Given the description of an element on the screen output the (x, y) to click on. 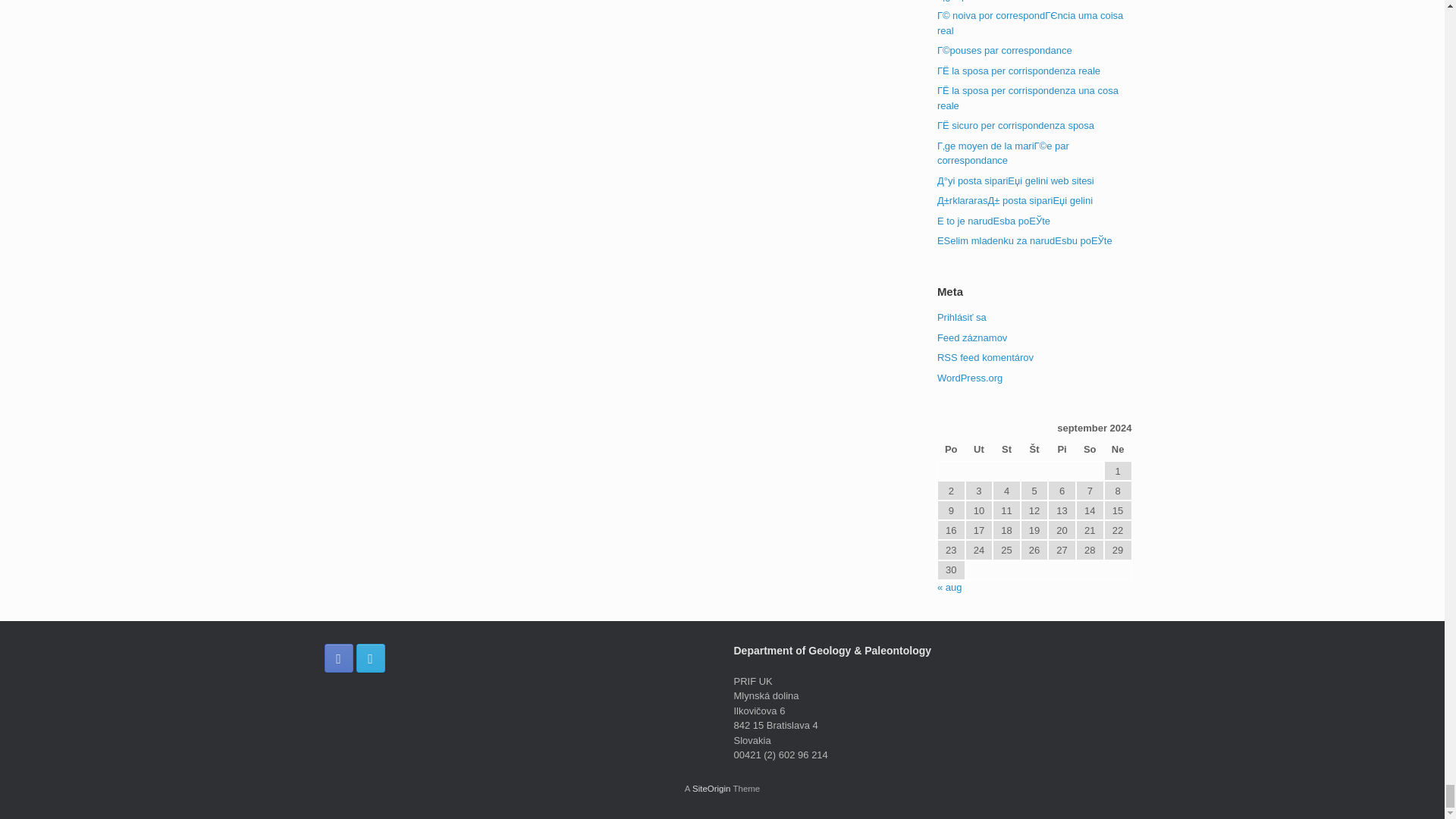
streda (1006, 450)
utorok (978, 450)
pondelok (951, 450)
piatok (1061, 450)
sobota (1089, 450)
